Given the description of an element on the screen output the (x, y) to click on. 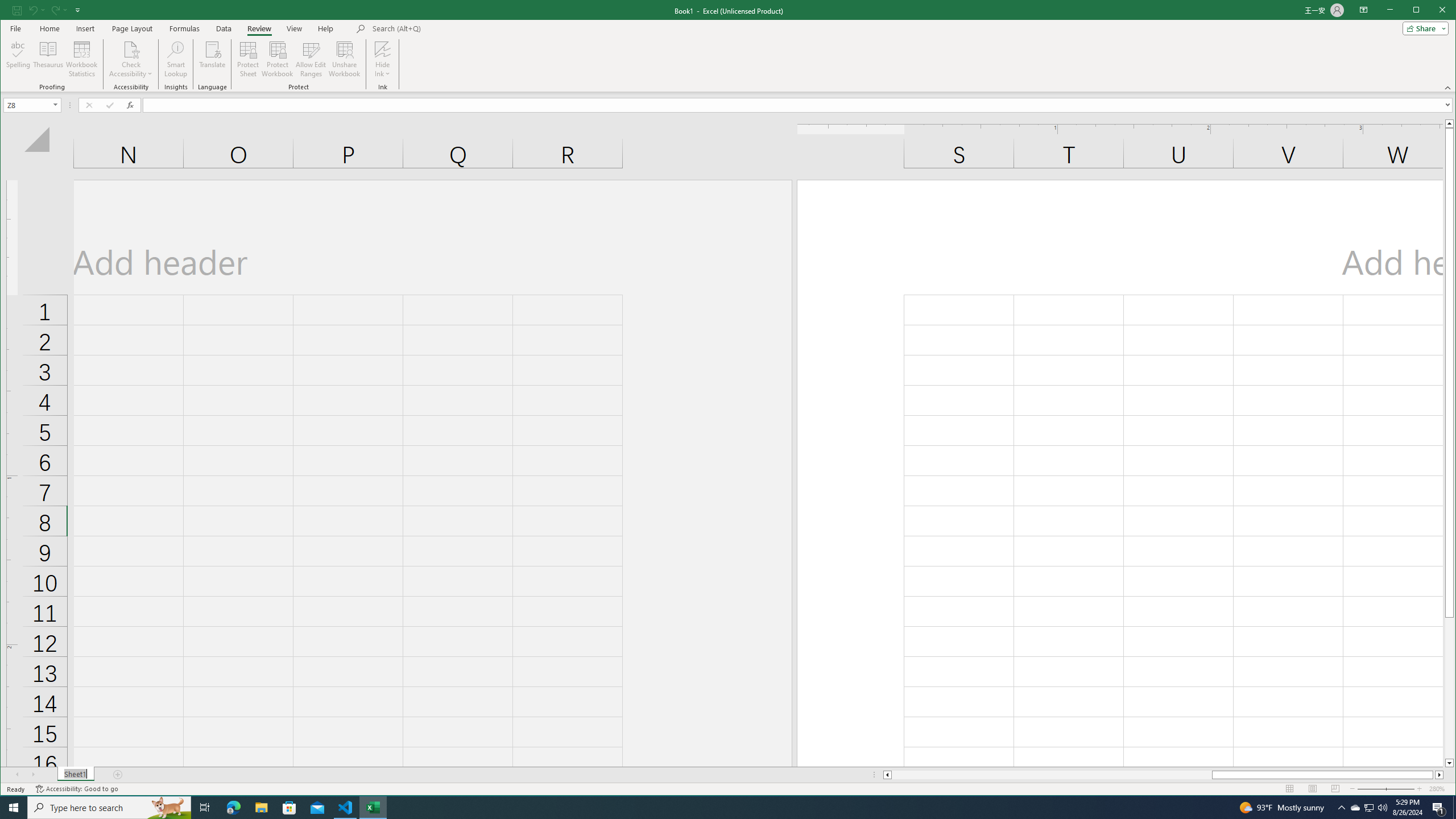
Running applications (717, 807)
Action Center, 1 new notification (1439, 807)
Protect Workbook... (277, 59)
Smart Lookup (176, 59)
